Given the description of an element on the screen output the (x, y) to click on. 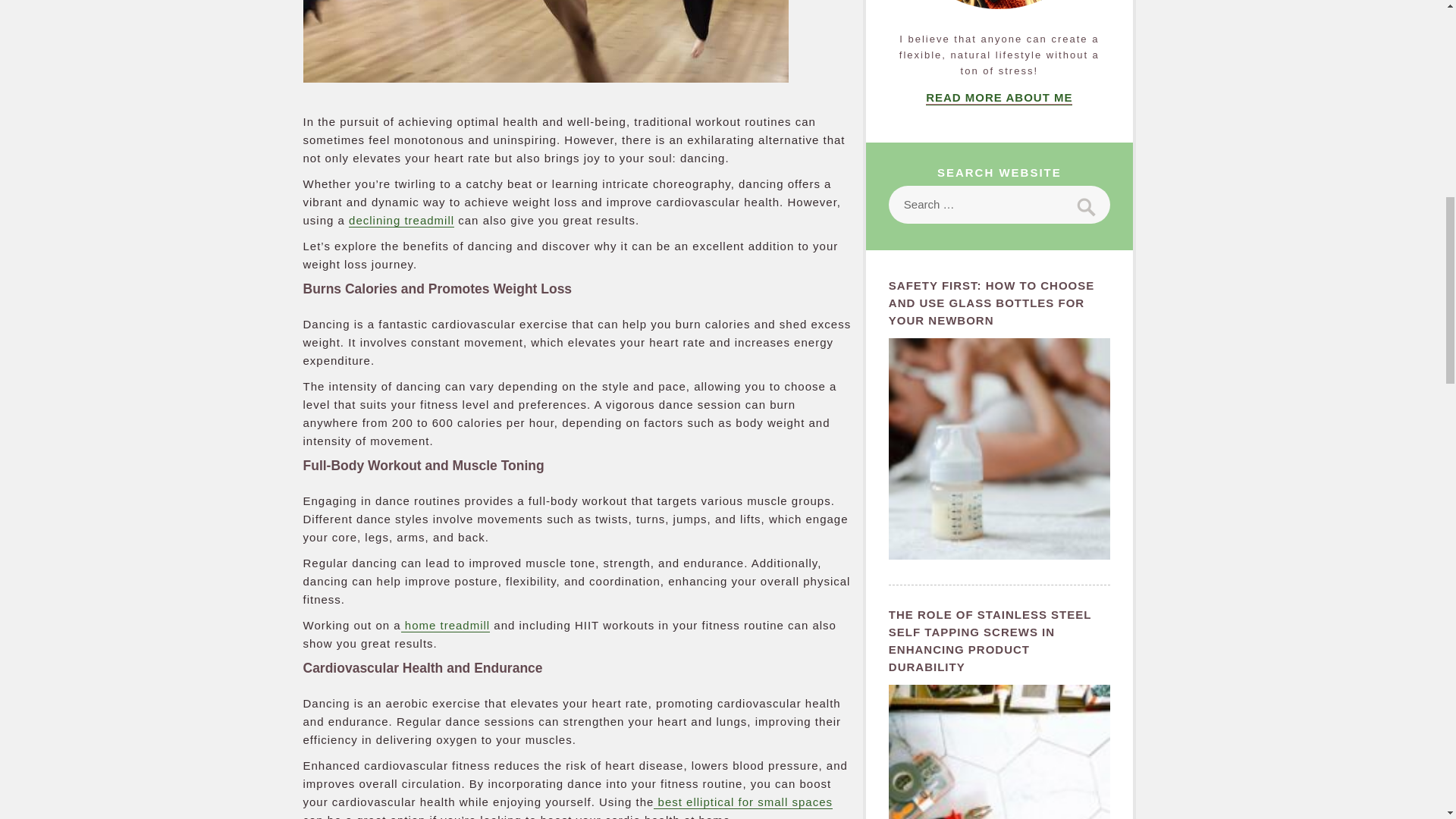
home treadmill (445, 625)
declining treadmill (401, 219)
READ MORE ABOUT ME (998, 97)
best elliptical for small spaces (742, 801)
